Given the description of an element on the screen output the (x, y) to click on. 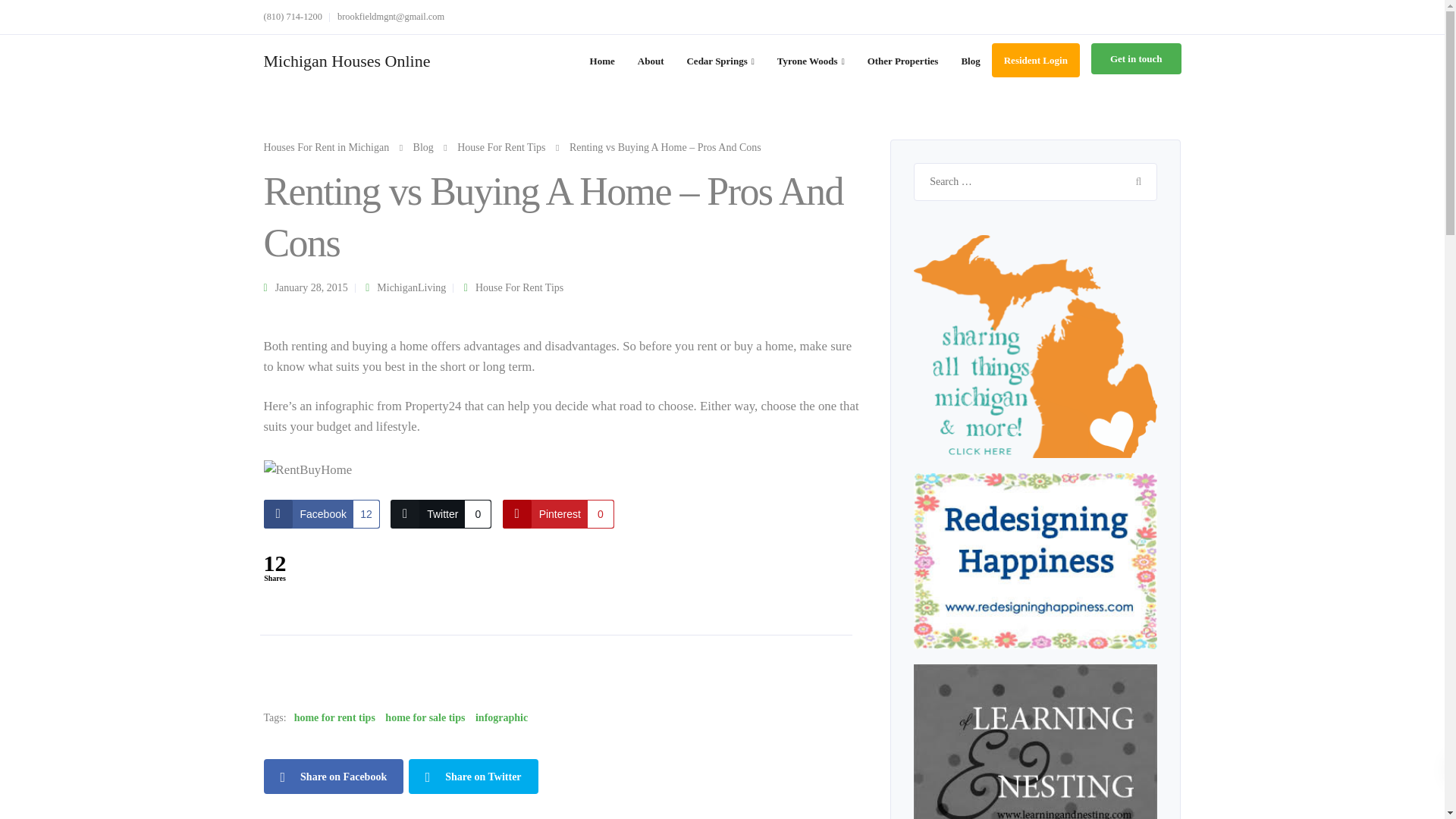
About (650, 60)
House For Rent Tips (500, 147)
home for rent tips (334, 718)
infographic (501, 718)
home for sale tips (424, 718)
Cedar Springs (720, 60)
Go to the House For Rent Tips category archives. (500, 147)
Home (602, 60)
House For Rent Tips (519, 287)
Go to Houses For Rent in Michigan. (326, 147)
Resident Login (1035, 59)
Tyrone Woods (810, 60)
Tyrone Woods (810, 60)
About (650, 60)
Blog (423, 147)
